Given the description of an element on the screen output the (x, y) to click on. 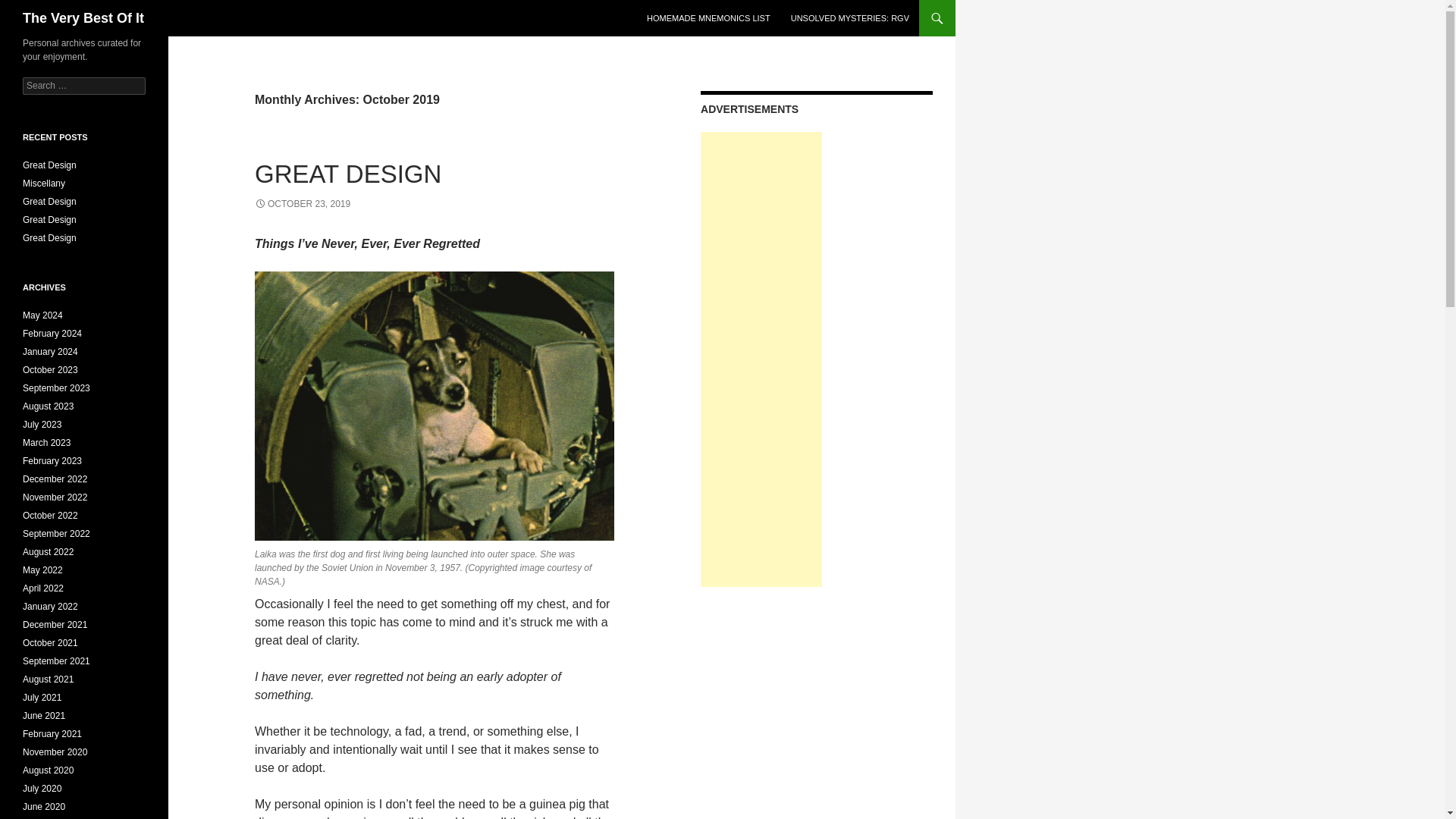
August 2021 (48, 679)
Great Design (50, 237)
OCTOBER 23, 2019 (302, 204)
The Very Best Of It (83, 18)
Search (30, 8)
February 2024 (52, 333)
February 2023 (52, 460)
April 2022 (43, 588)
UNSOLVED MYSTERIES: RGV (849, 18)
August 2022 (48, 552)
